Given the description of an element on the screen output the (x, y) to click on. 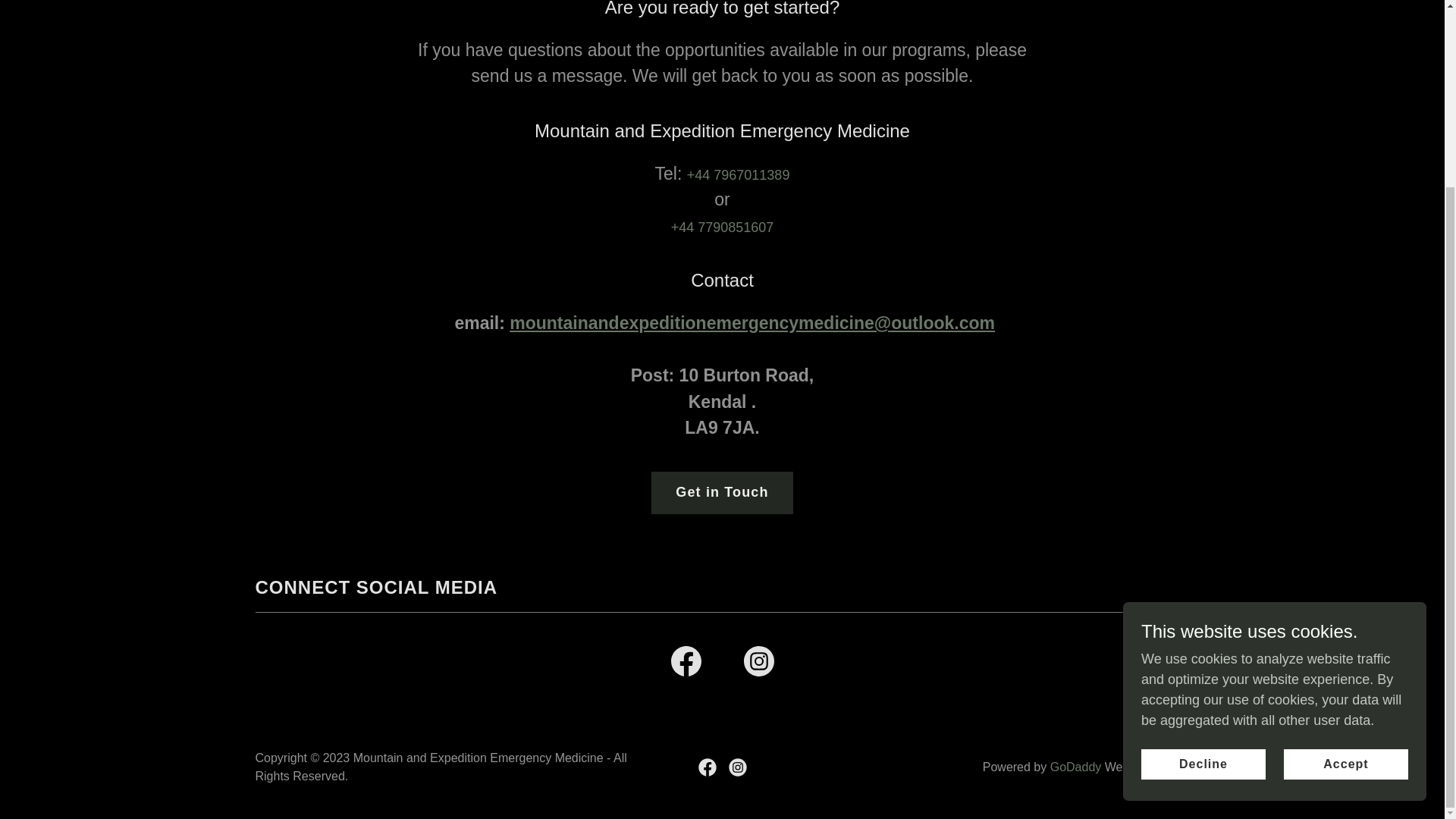
Decline (1203, 531)
Accept (1345, 531)
GoDaddy (1075, 766)
Get in Touch (721, 492)
